Given the description of an element on the screen output the (x, y) to click on. 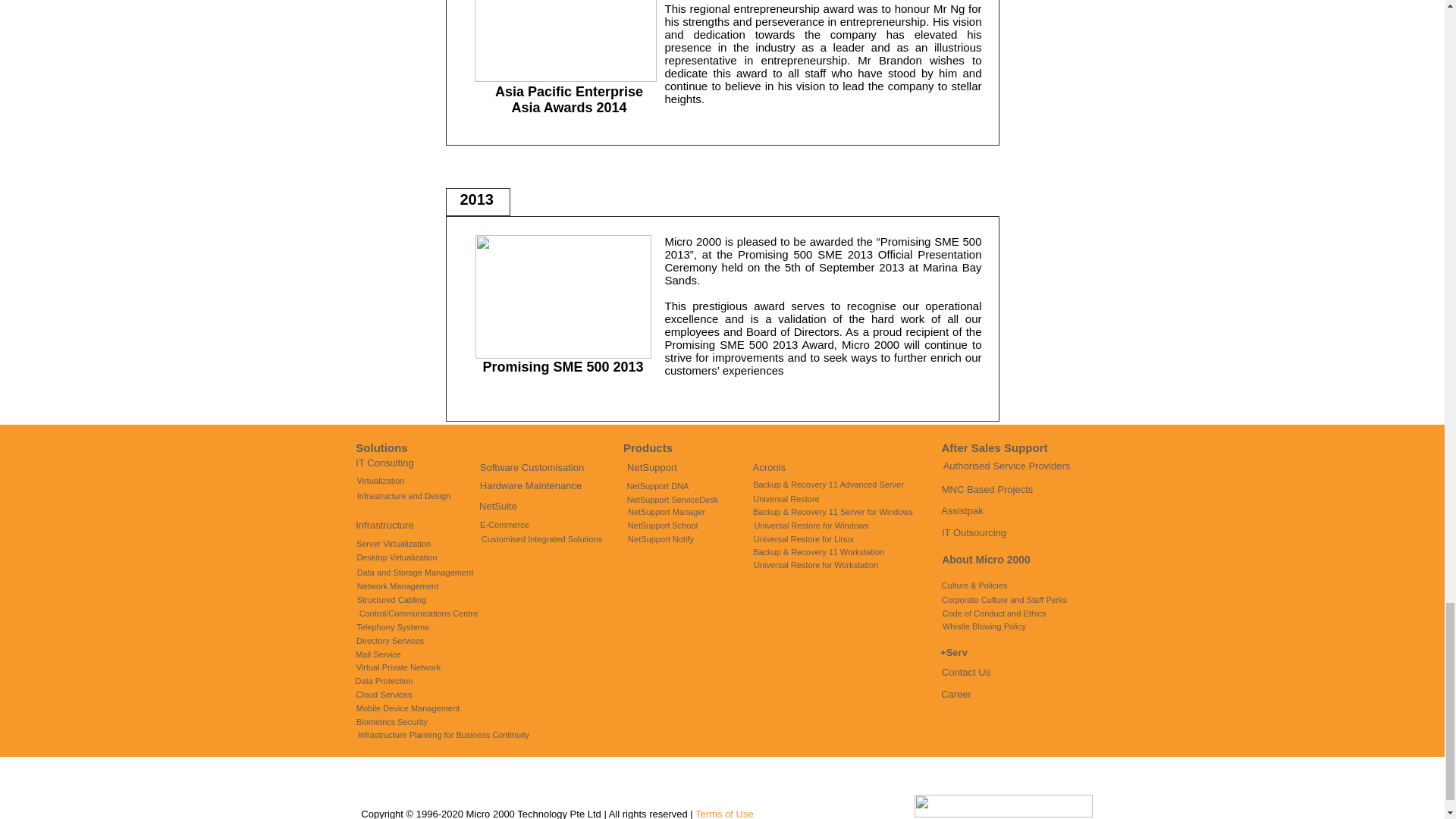
Infrastructure Planning for Business Continuity (443, 734)
Structured Cabling (391, 599)
Infrastructure (384, 525)
Telephony Systems (392, 627)
Directory Services (389, 640)
Mail Service (378, 654)
Desktop Virtualization (396, 557)
Data and Storage Management (414, 572)
Network Management (397, 586)
Server Virtualization (393, 543)
